Given the description of an element on the screen output the (x, y) to click on. 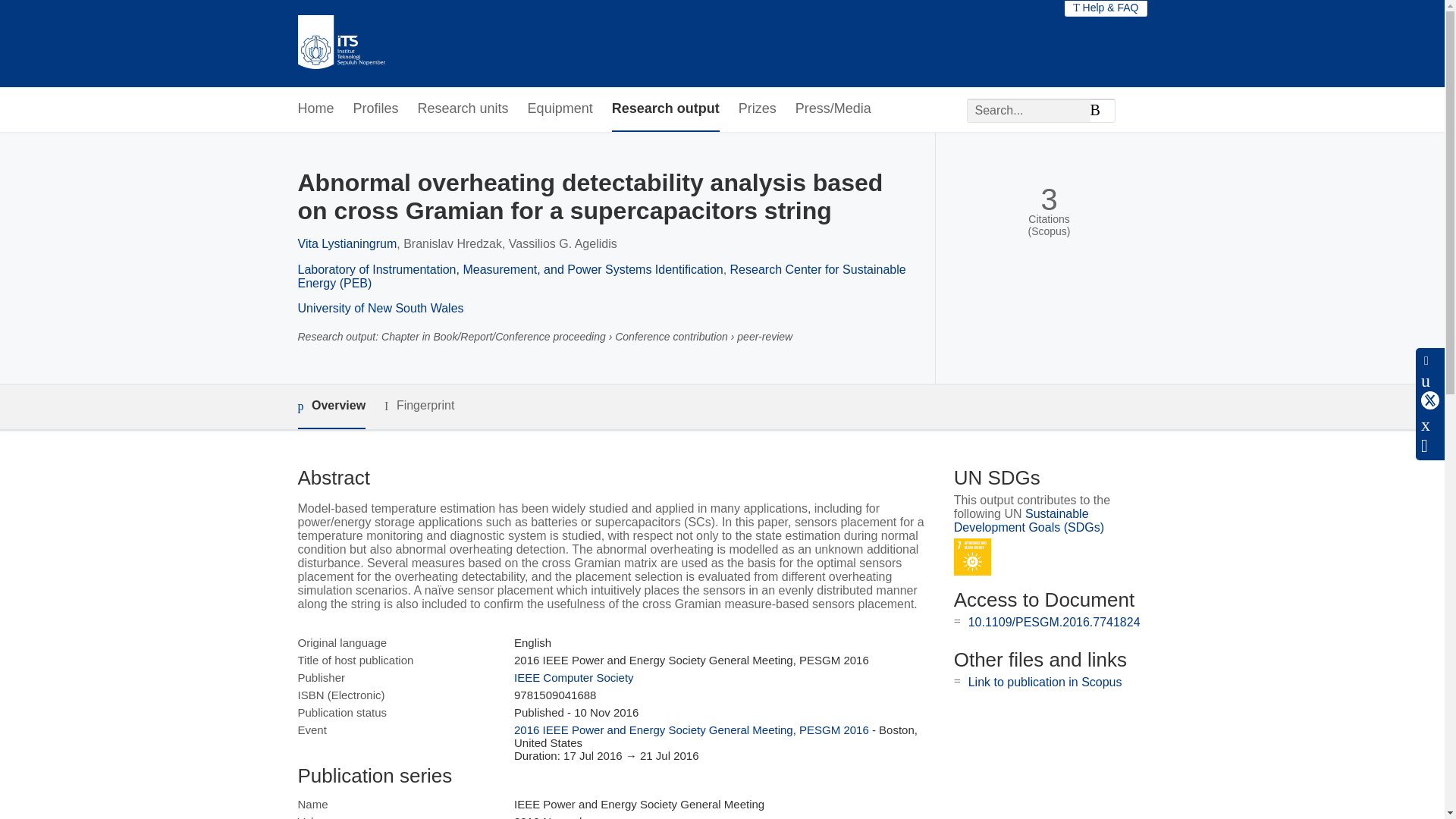
SDG 7 - Affordable and Clean Energy (972, 556)
Research output (665, 108)
Overview (331, 406)
Research units (462, 108)
Link to publication in Scopus (1045, 681)
Vita Lystianingrum (346, 243)
Equipment (559, 108)
Fingerprint (419, 405)
University of New South Wales (380, 308)
IEEE Computer Society (573, 676)
Profiles (375, 108)
